Given the description of an element on the screen output the (x, y) to click on. 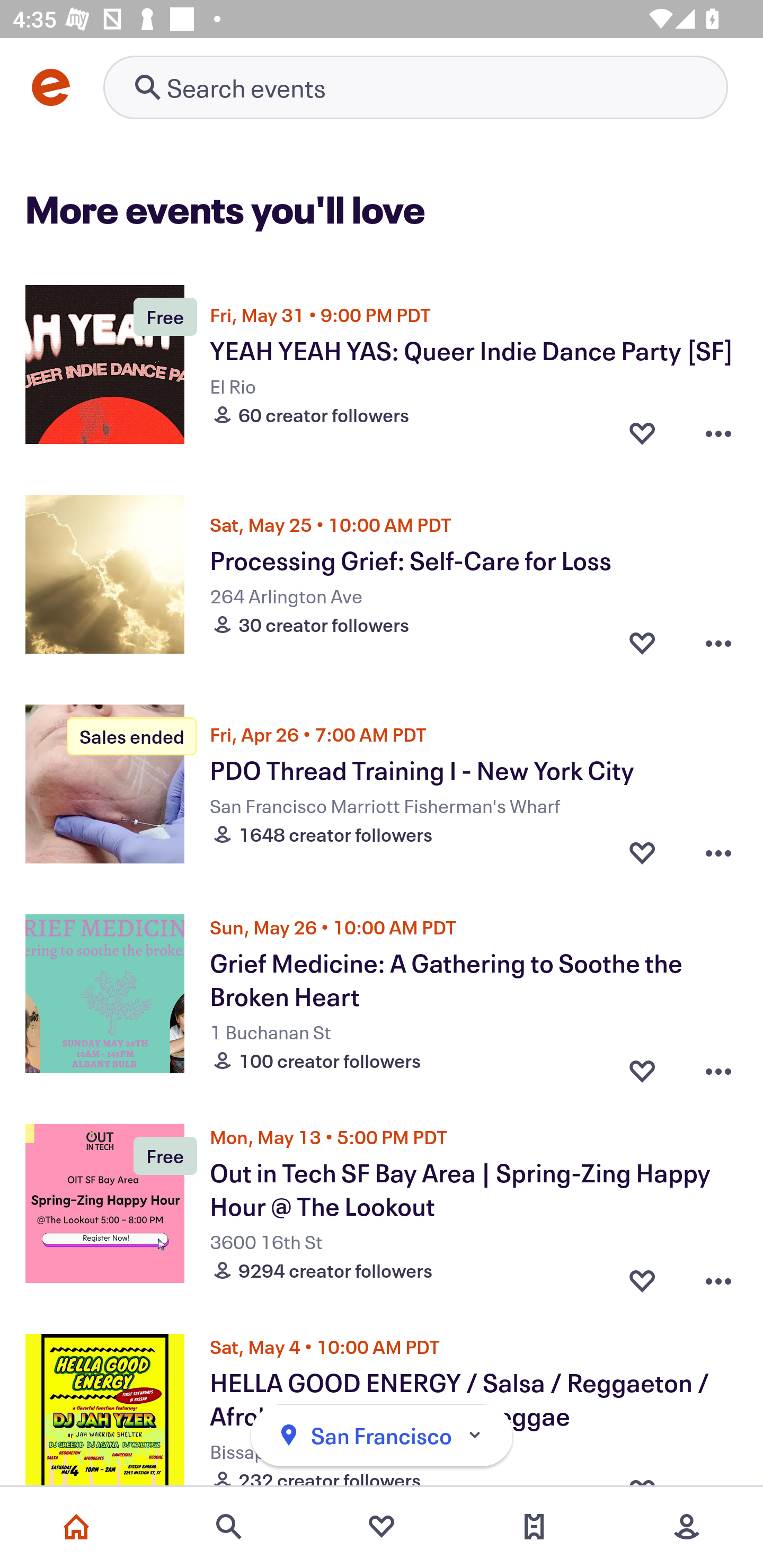
Retry's image Search events (415, 86)
Favorite button (642, 431)
Overflow menu button (718, 431)
Favorite button (642, 641)
Overflow menu button (718, 641)
Favorite button (642, 852)
Overflow menu button (718, 852)
Favorite button (642, 1066)
Overflow menu button (718, 1066)
Favorite button (642, 1275)
Overflow menu button (718, 1275)
San Francisco (381, 1435)
Home (76, 1526)
Search events (228, 1526)
Favorites (381, 1526)
Tickets (533, 1526)
More (686, 1526)
